Given the description of an element on the screen output the (x, y) to click on. 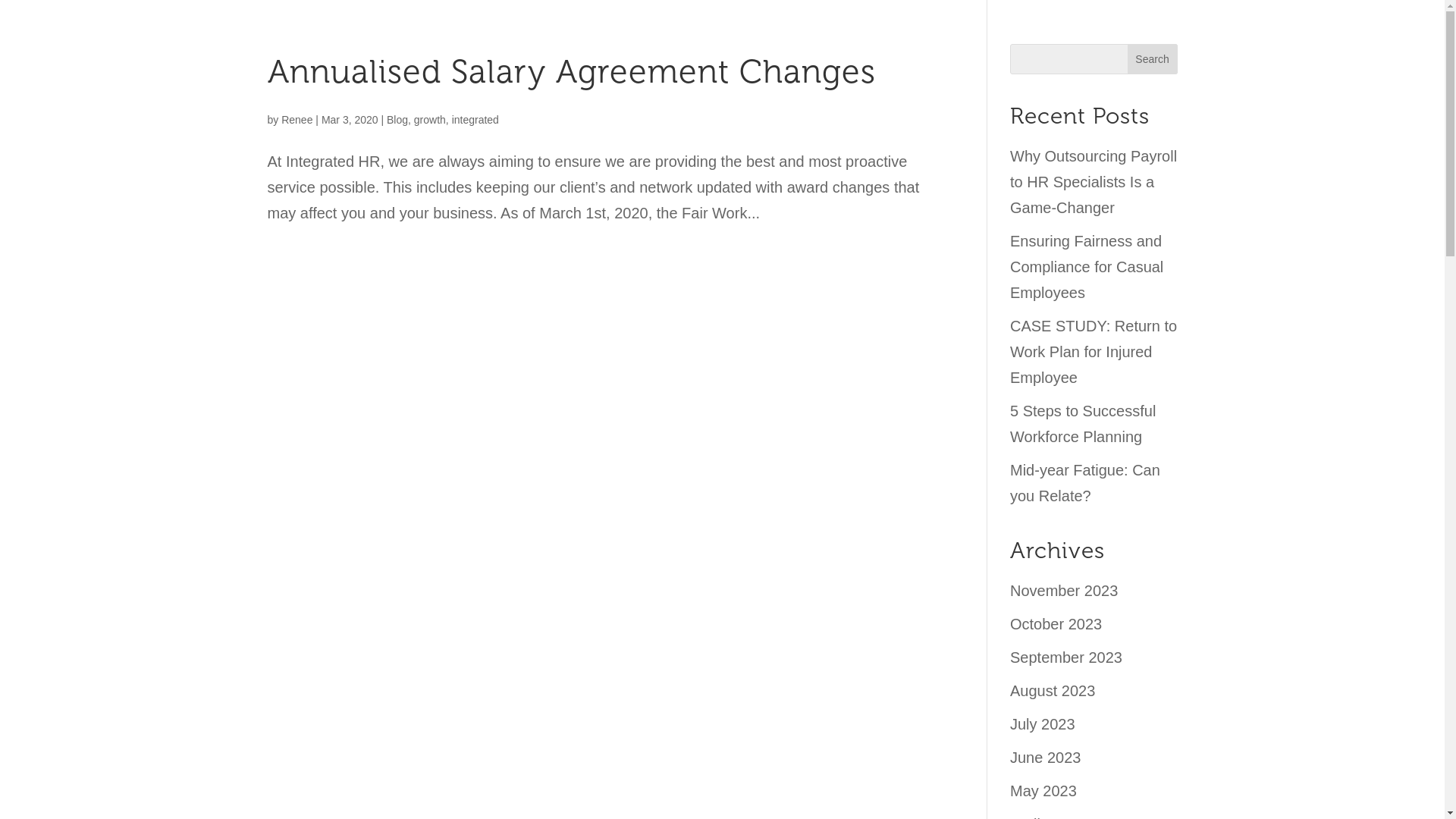
Search Element type: text (1152, 58)
integrated Element type: text (474, 119)
Blog Element type: text (396, 119)
Why Outsourcing Payroll to HR Specialists Is a Game-Changer Element type: text (1093, 181)
growth Element type: text (429, 119)
CASE STUDY: Return to Work Plan for Injured Employee Element type: text (1093, 351)
Mid-year Fatigue: Can you Relate? Element type: text (1085, 482)
August 2023 Element type: text (1052, 690)
Renee Element type: text (296, 119)
Ensuring Fairness and Compliance for Casual Employees Element type: text (1086, 266)
October 2023 Element type: text (1055, 623)
Annualised Salary Agreement Changes Element type: text (570, 71)
5 Steps to Successful Workforce Planning Element type: text (1082, 423)
November 2023 Element type: text (1063, 590)
July 2023 Element type: text (1042, 723)
June 2023 Element type: text (1045, 757)
September 2023 Element type: text (1066, 657)
May 2023 Element type: text (1043, 790)
